Given the description of an element on the screen output the (x, y) to click on. 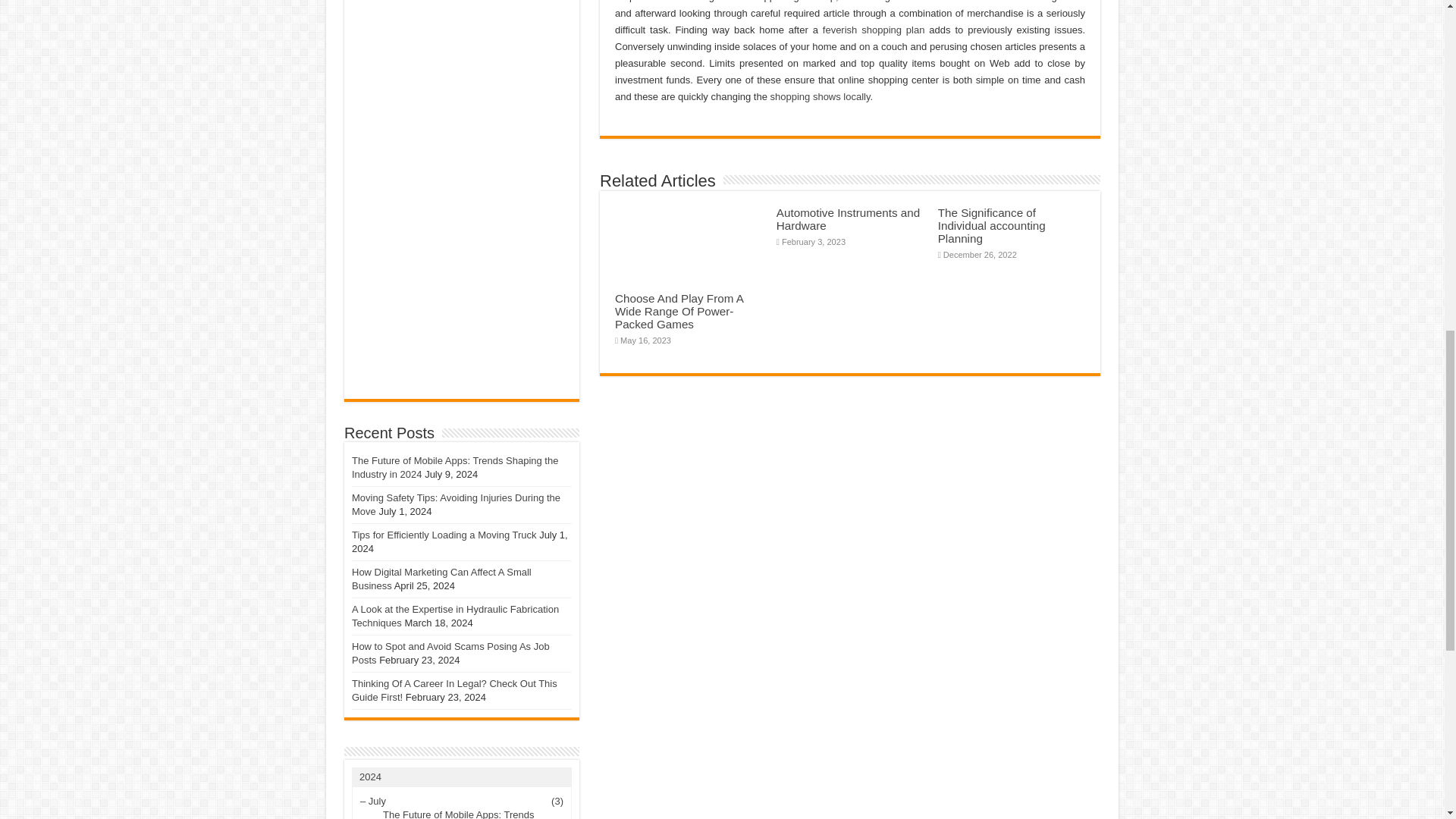
shopping shows locally. (821, 96)
feverish shopping plan (873, 30)
